Given the description of an element on the screen output the (x, y) to click on. 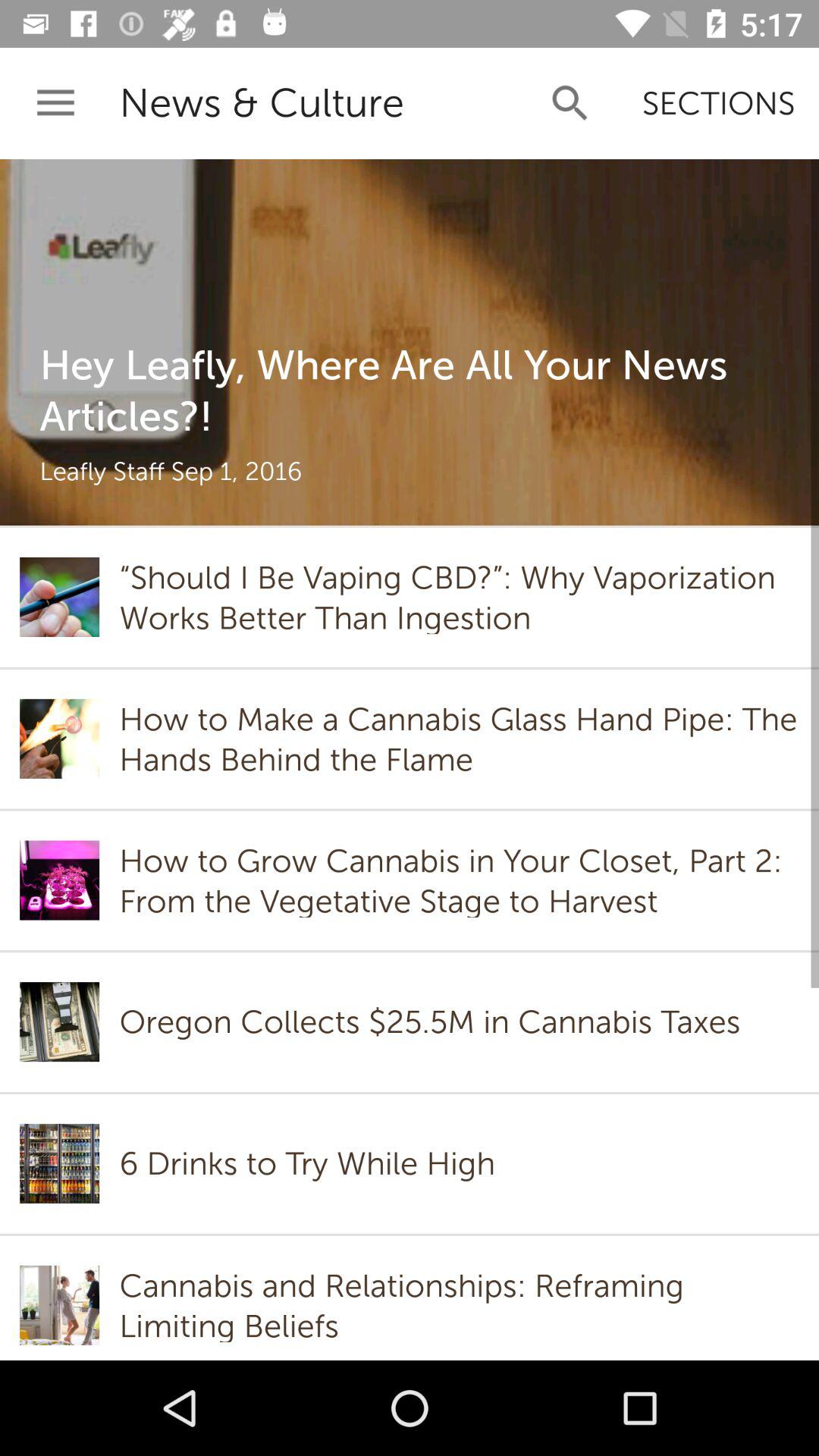
click the item next to news & culture icon (55, 103)
